Given the description of an element on the screen output the (x, y) to click on. 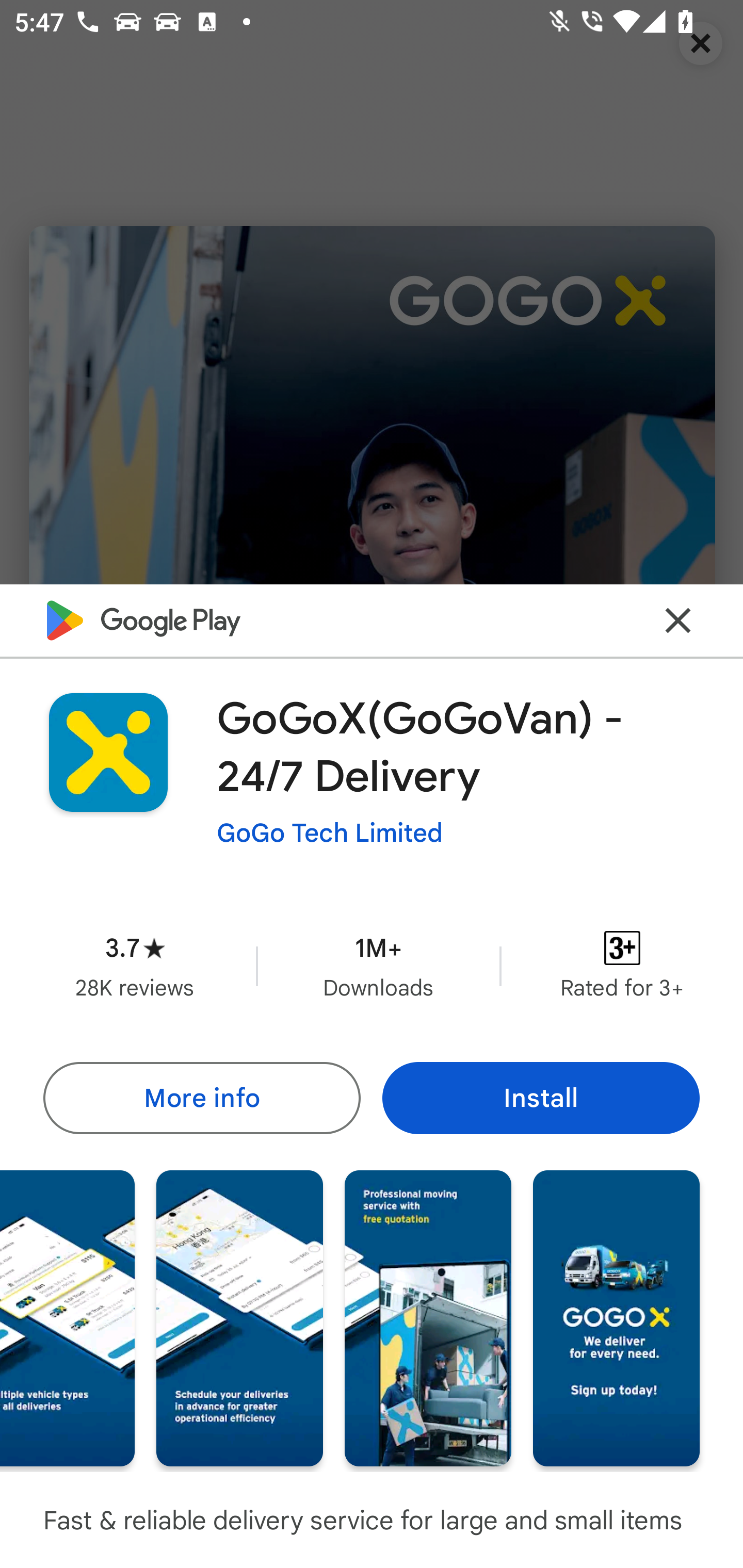
Close (677, 620)
GoGo Tech Limited (329, 832)
More info (201, 1097)
Install (540, 1097)
Screenshot "3" of "6" (67, 1317)
Screenshot "4" of "6" (239, 1317)
Screenshot "5" of "6" (427, 1317)
Screenshot "6" of "6" (615, 1317)
